Given the description of an element on the screen output the (x, y) to click on. 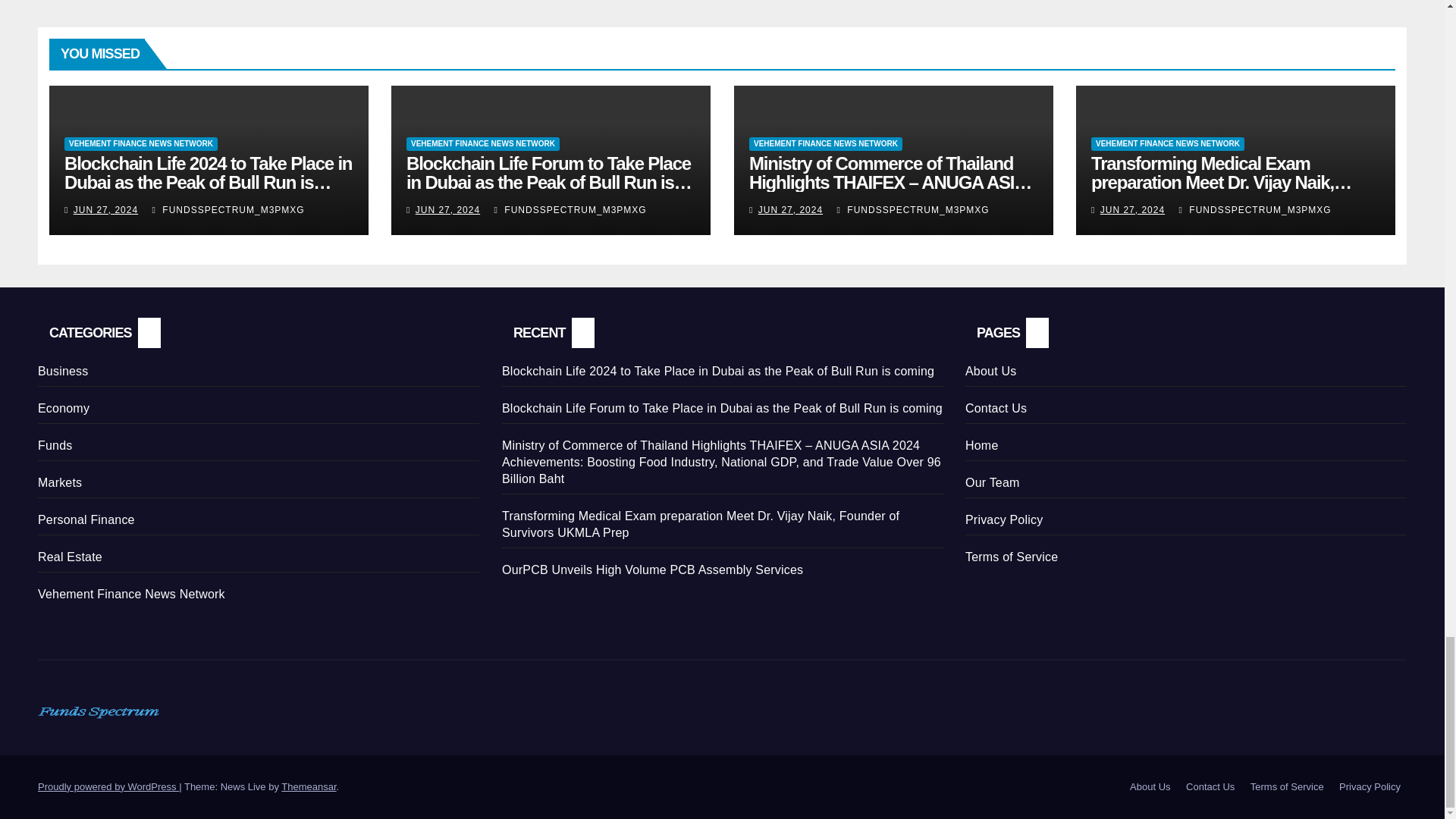
About Us (1150, 786)
